Given the description of an element on the screen output the (x, y) to click on. 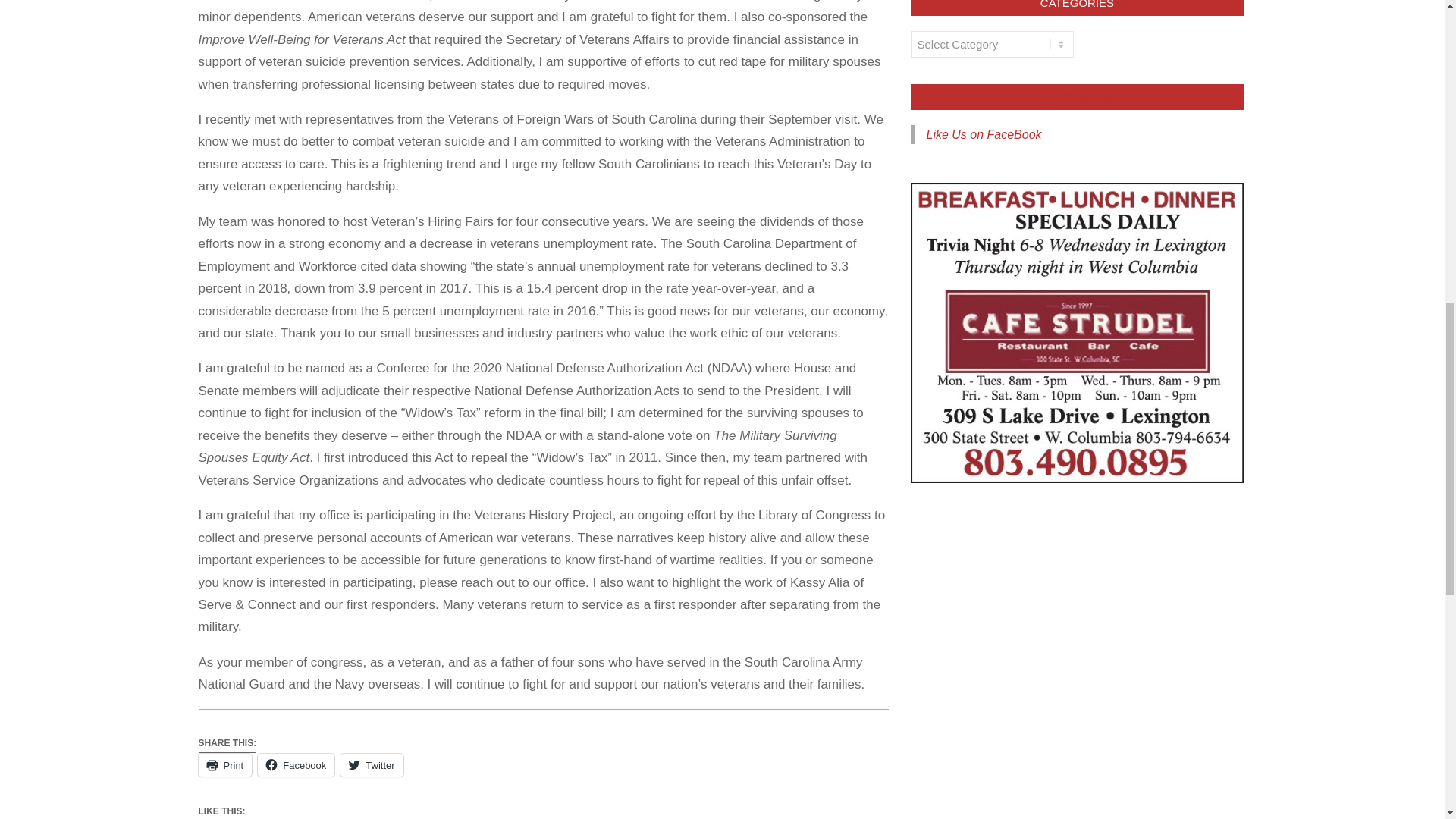
Print (224, 764)
Click to print (224, 764)
Click to share on Twitter (371, 764)
Twitter (371, 764)
Facebook (295, 764)
Click to share on Facebook (295, 764)
